Given the description of an element on the screen output the (x, y) to click on. 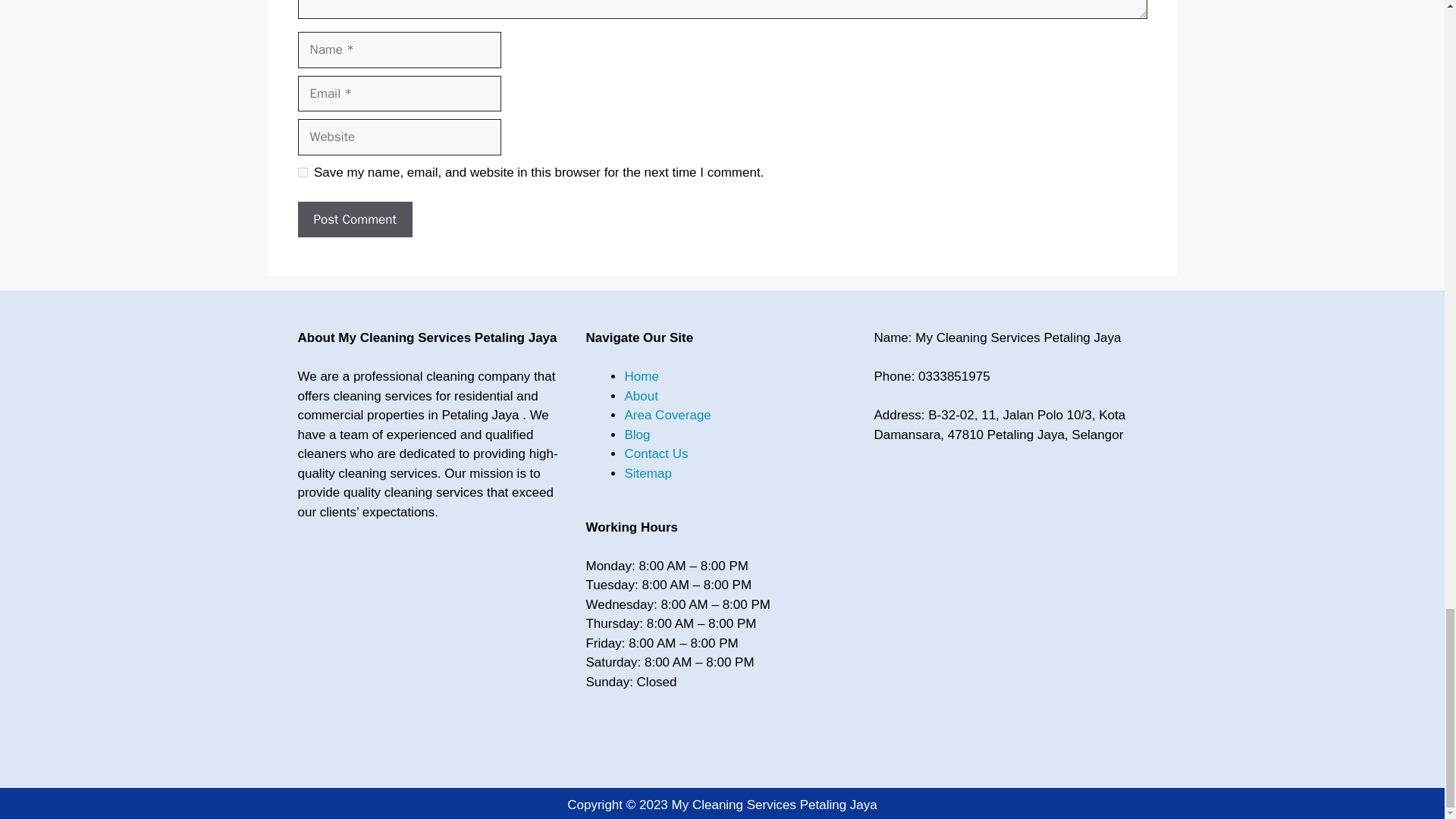
Post Comment (354, 219)
Home (641, 376)
About (641, 396)
Contact Us (655, 453)
Area Coverage (667, 414)
Blog (636, 434)
Sitemap (647, 473)
Post Comment (354, 219)
yes (302, 172)
